Given the description of an element on the screen output the (x, y) to click on. 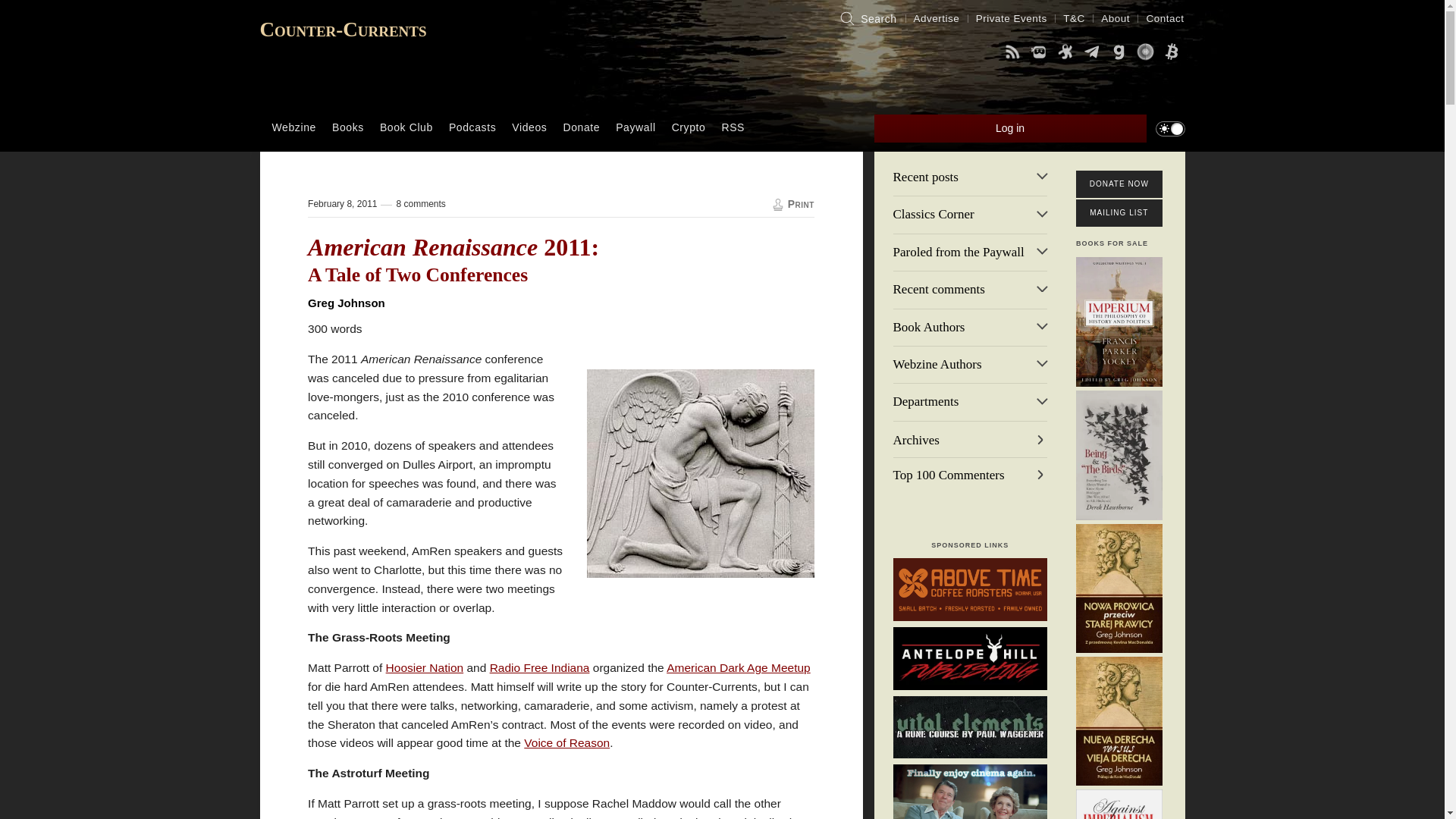
Private Events (1011, 18)
Crypto (689, 126)
Log in (1010, 128)
About (1115, 18)
Webzine (294, 126)
Counter-Currents (342, 29)
Advertise (936, 18)
Book Club (405, 126)
Donate (581, 126)
Books (347, 126)
Paywall (635, 126)
Contact (1164, 18)
Podcasts (472, 126)
Videos (529, 126)
Search (866, 18)
